Given the description of an element on the screen output the (x, y) to click on. 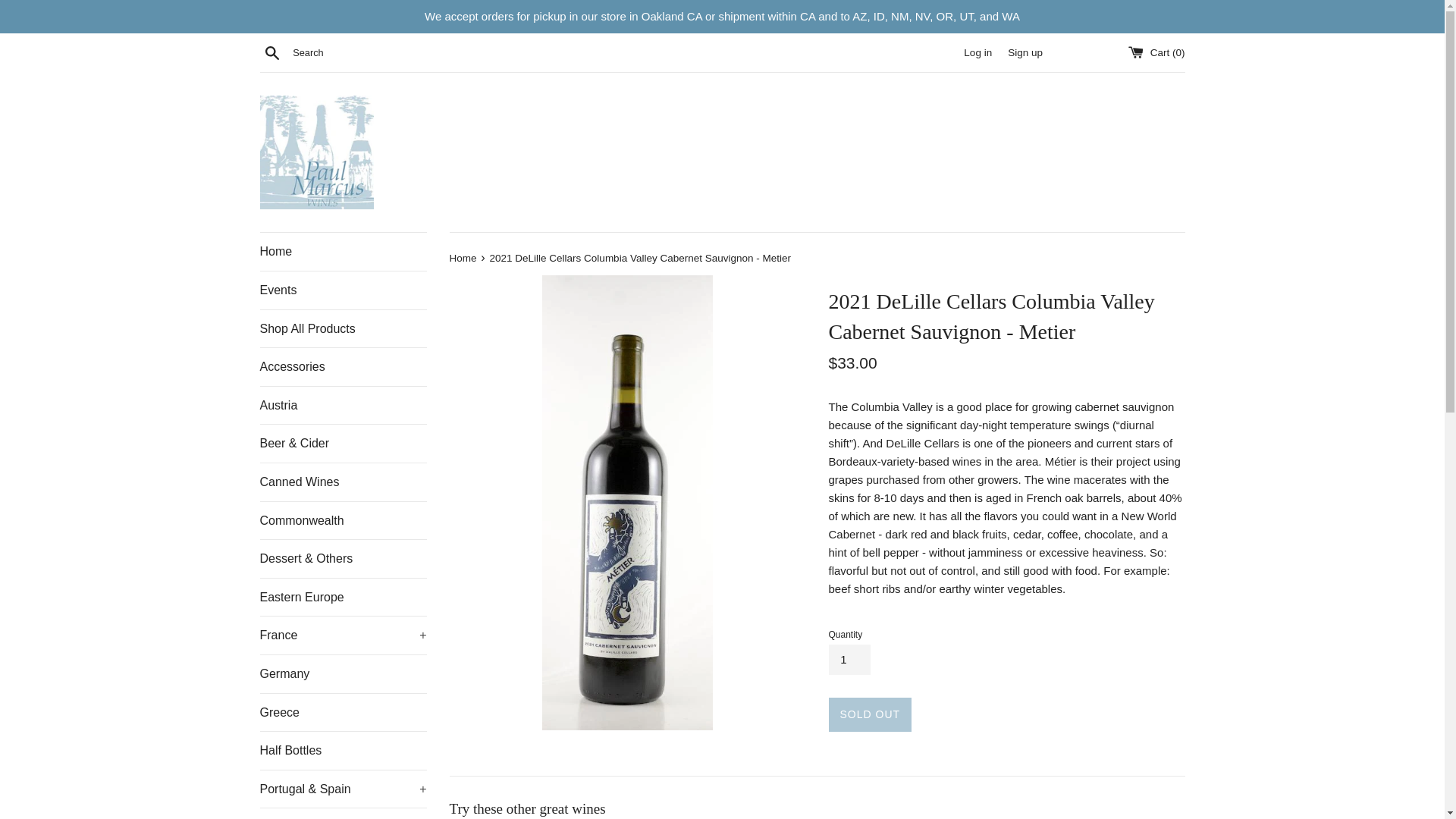
Eastern Europe (342, 597)
Commonwealth (342, 520)
Germany (342, 673)
Search (271, 52)
Greece (342, 712)
Back to the frontpage (463, 257)
Home (342, 251)
Austria (342, 405)
Log in (977, 52)
Events (342, 290)
Canned Wines (342, 482)
Accessories (342, 366)
1 (848, 659)
Shop All Products (342, 329)
Half Bottles (342, 750)
